Given the description of an element on the screen output the (x, y) to click on. 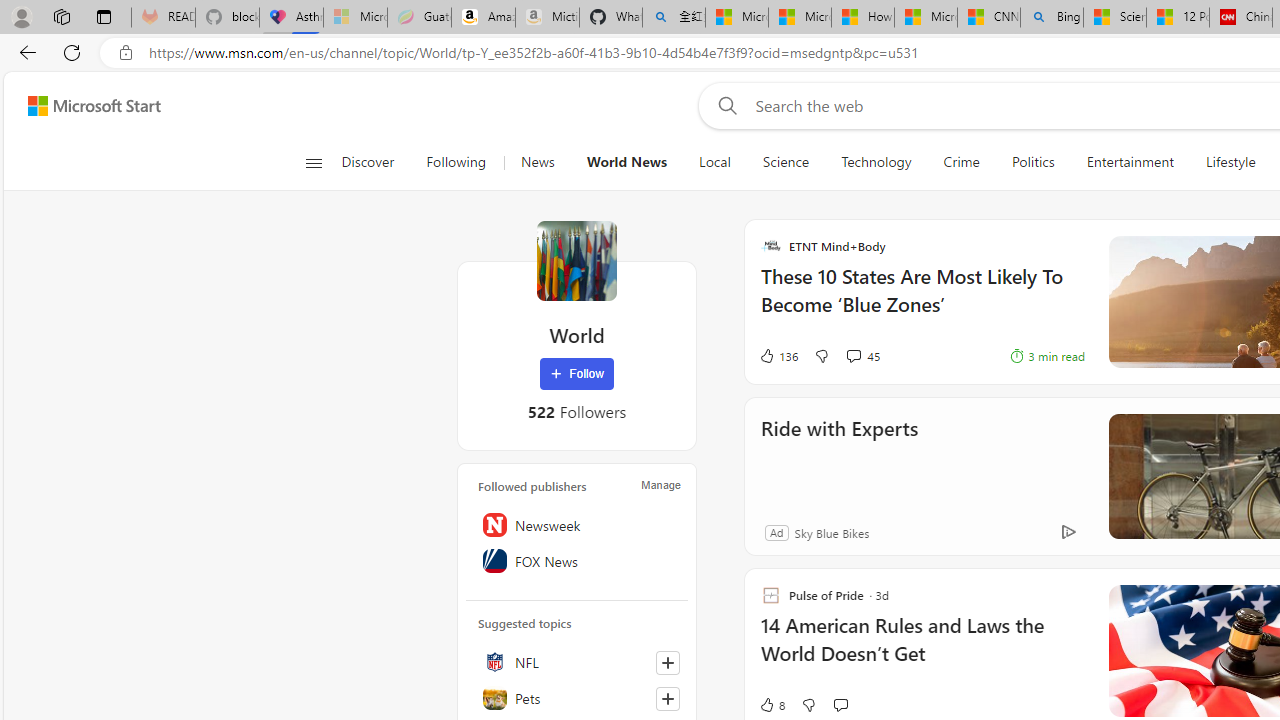
Pets (577, 697)
World (576, 260)
View comments 45 Comment (862, 355)
Newsweek (577, 525)
